Given the description of an element on the screen output the (x, y) to click on. 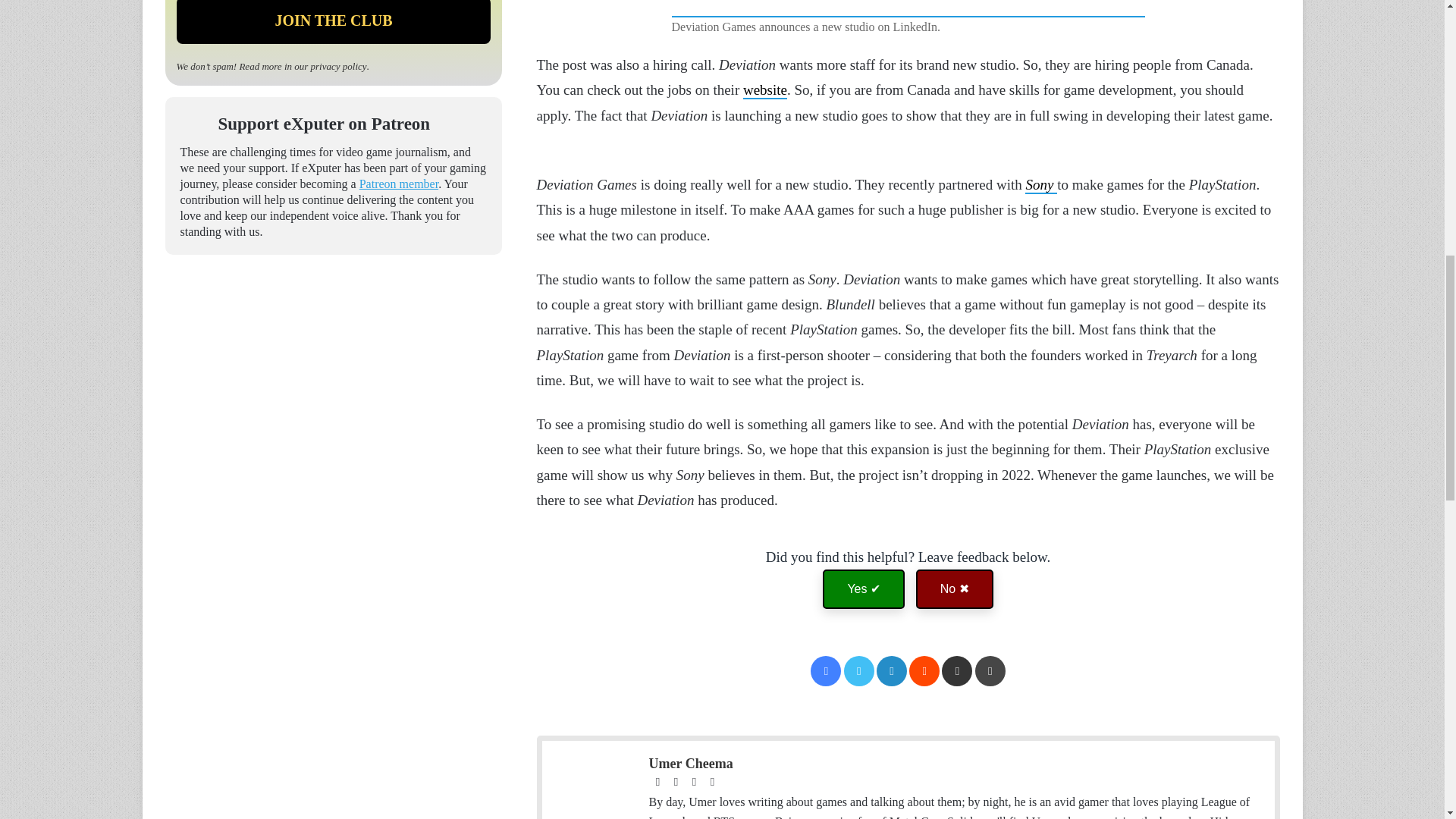
Print (990, 671)
Facebook (825, 671)
Reddit (923, 671)
LinkedIn (891, 671)
Twitter (859, 671)
Share via Email (957, 671)
JOIN THE  CLUB (333, 22)
